Given the description of an element on the screen output the (x, y) to click on. 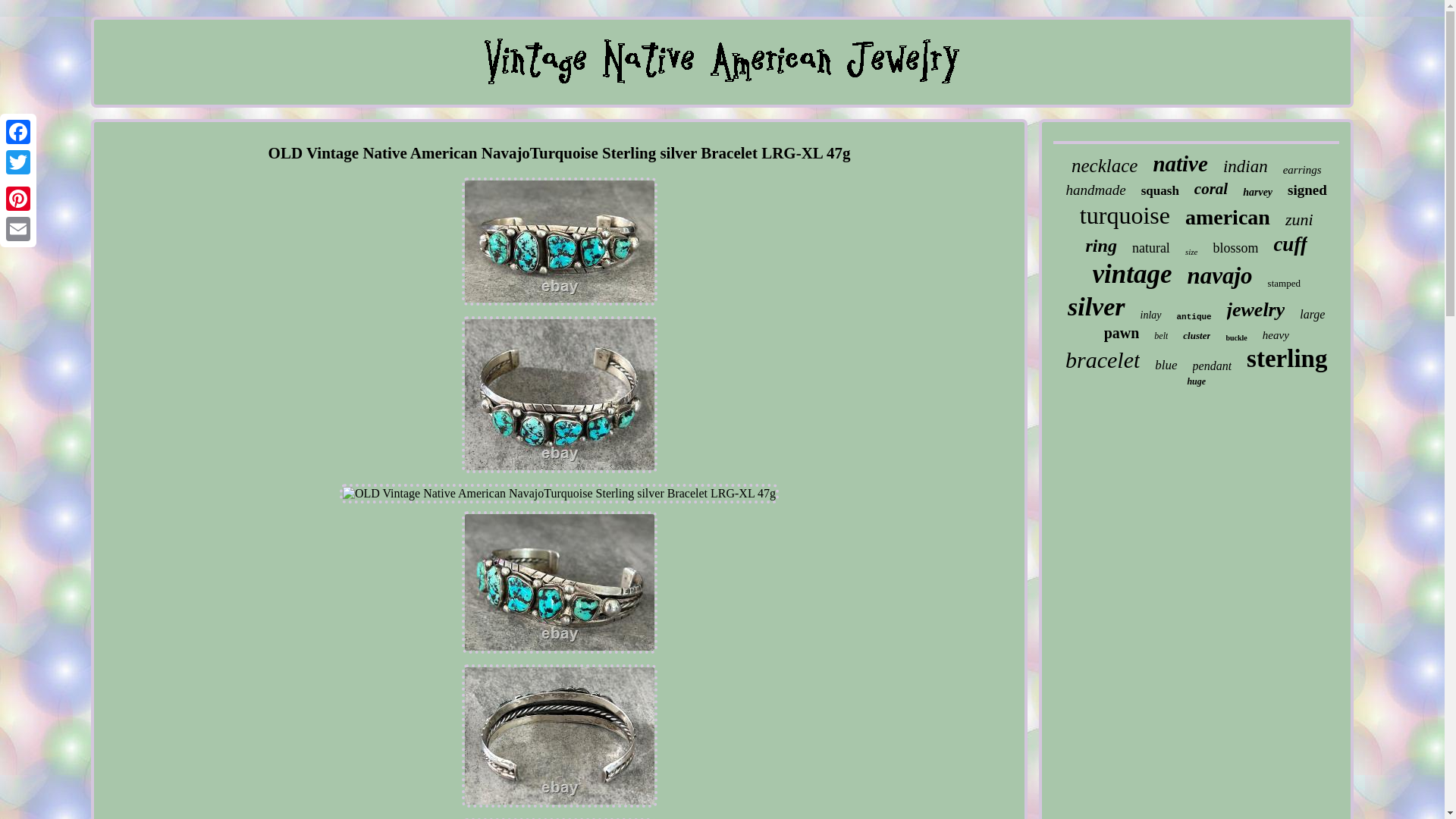
natural (1151, 248)
belt (1160, 336)
jewelry (1256, 309)
stamped (1284, 283)
ring (1101, 245)
silver (1096, 306)
cluster (1195, 336)
turquoise (1125, 215)
signed (1306, 190)
Pinterest (17, 198)
blossom (1234, 248)
inlay (1150, 315)
